Given the description of an element on the screen output the (x, y) to click on. 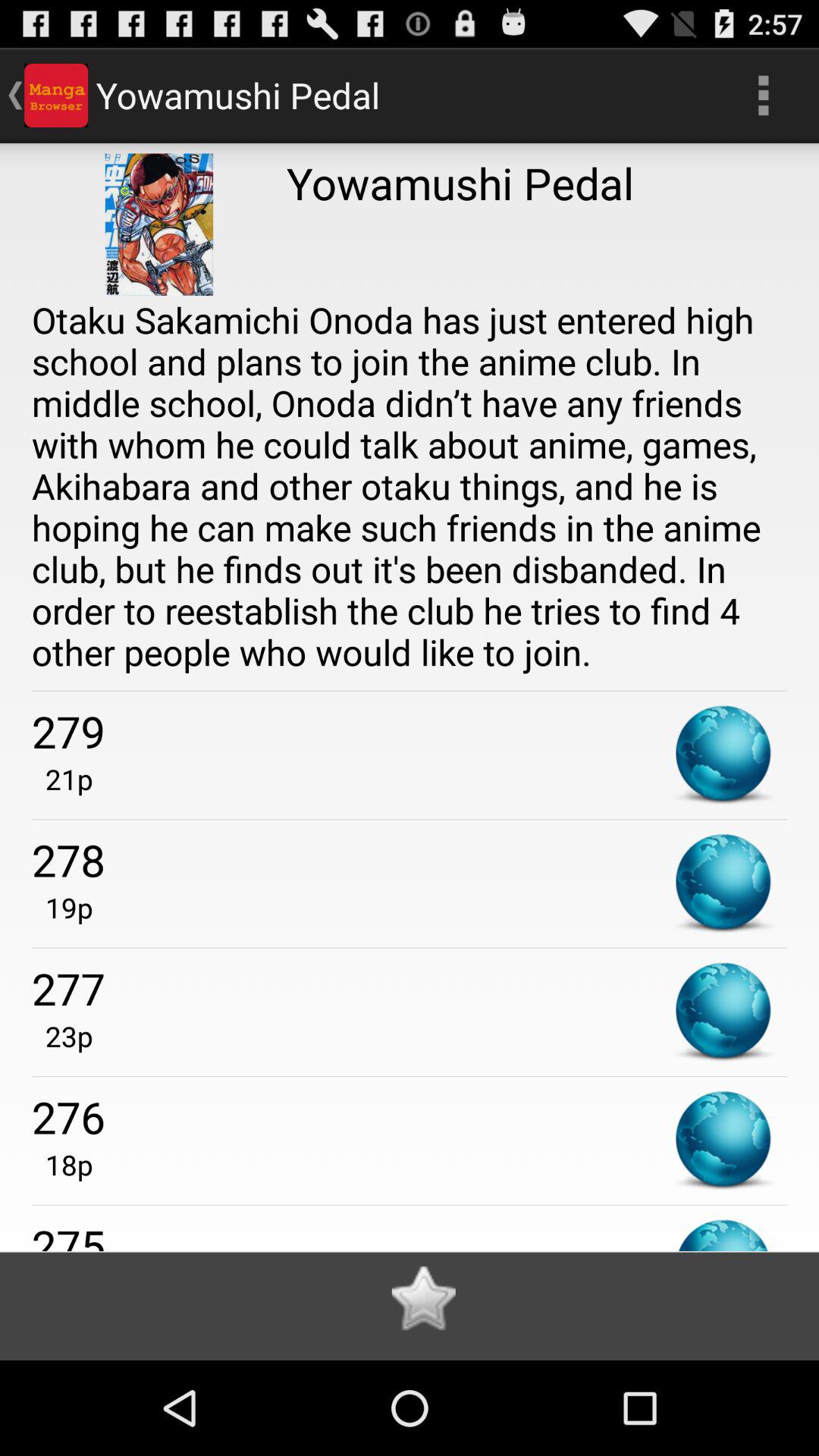
turn on item above the 275 item (61, 1164)
